Given the description of an element on the screen output the (x, y) to click on. 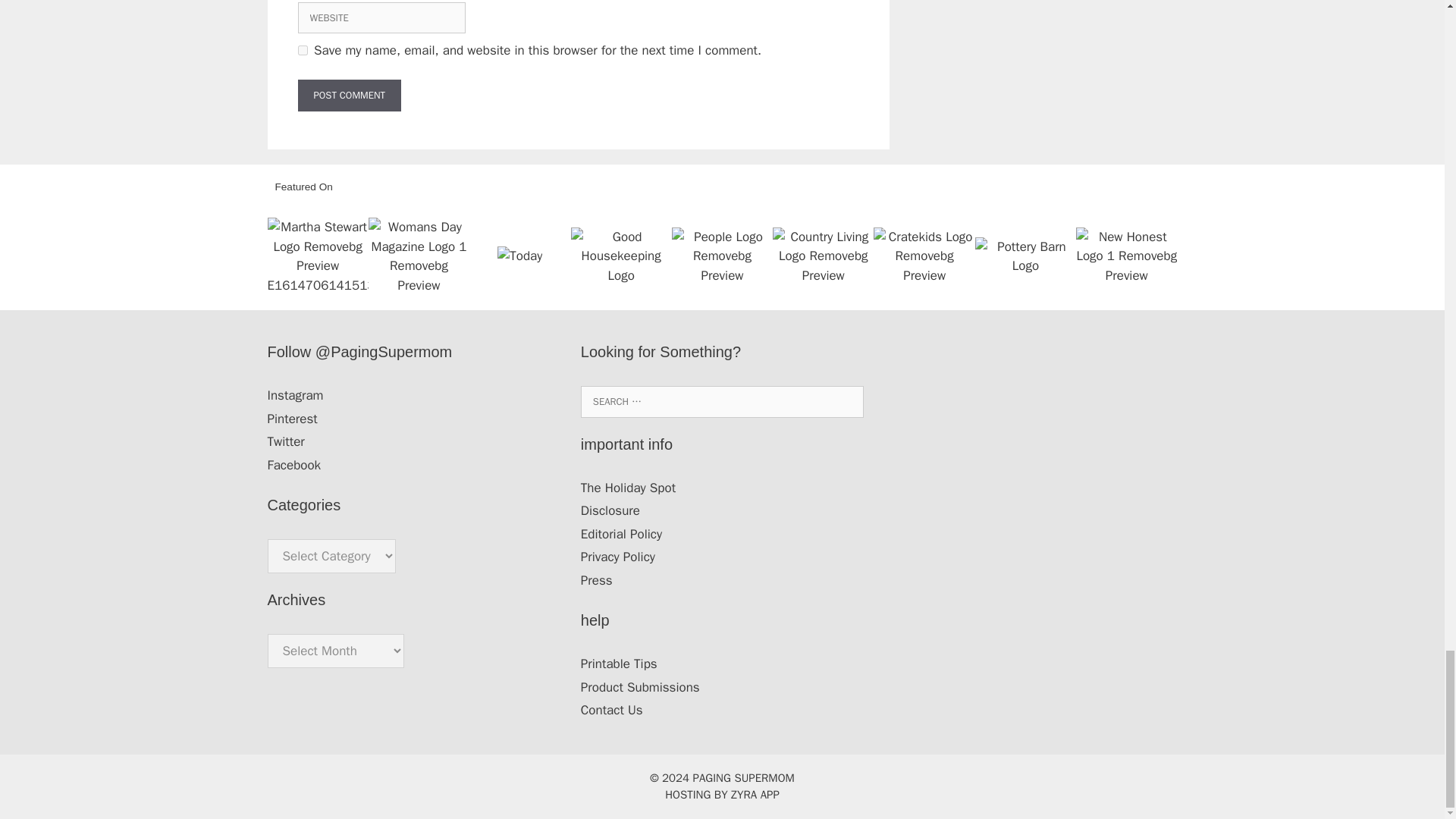
yes (302, 50)
Search for: (721, 401)
Post Comment (349, 95)
